Given the description of an element on the screen output the (x, y) to click on. 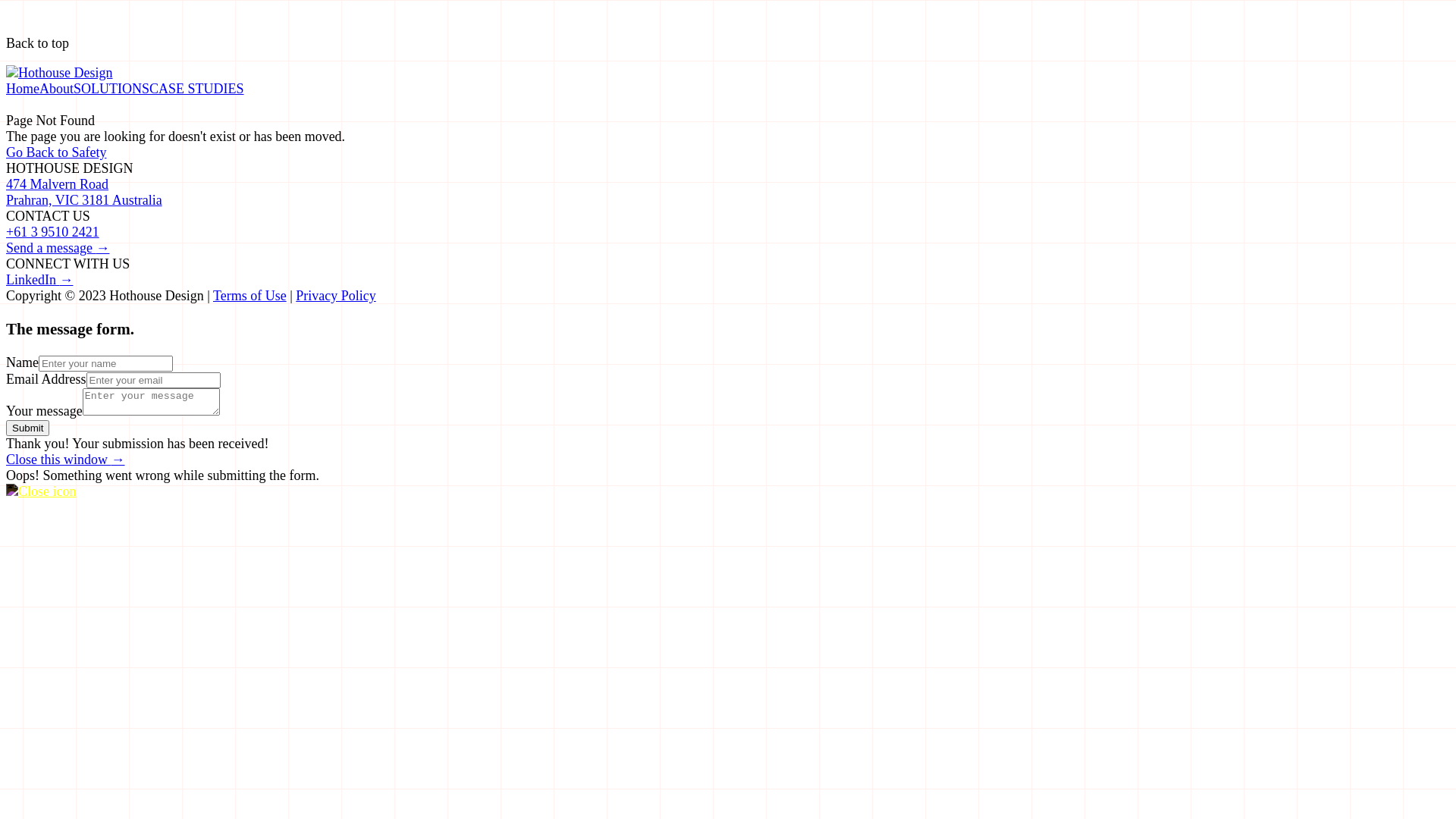
Home Element type: text (22, 88)
SOLUTIONS Element type: text (111, 88)
474 Malvern Road
Prahran, VIC 3181 Australia Element type: text (84, 191)
Privacy Policy Element type: text (335, 295)
Terms of Use Element type: text (249, 295)
Submit Element type: text (27, 428)
About Element type: text (56, 88)
CASE STUDIES Element type: text (196, 88)
Go Back to Safety Element type: text (727, 152)
+61 3 9510 2421 Element type: text (52, 231)
